Given the description of an element on the screen output the (x, y) to click on. 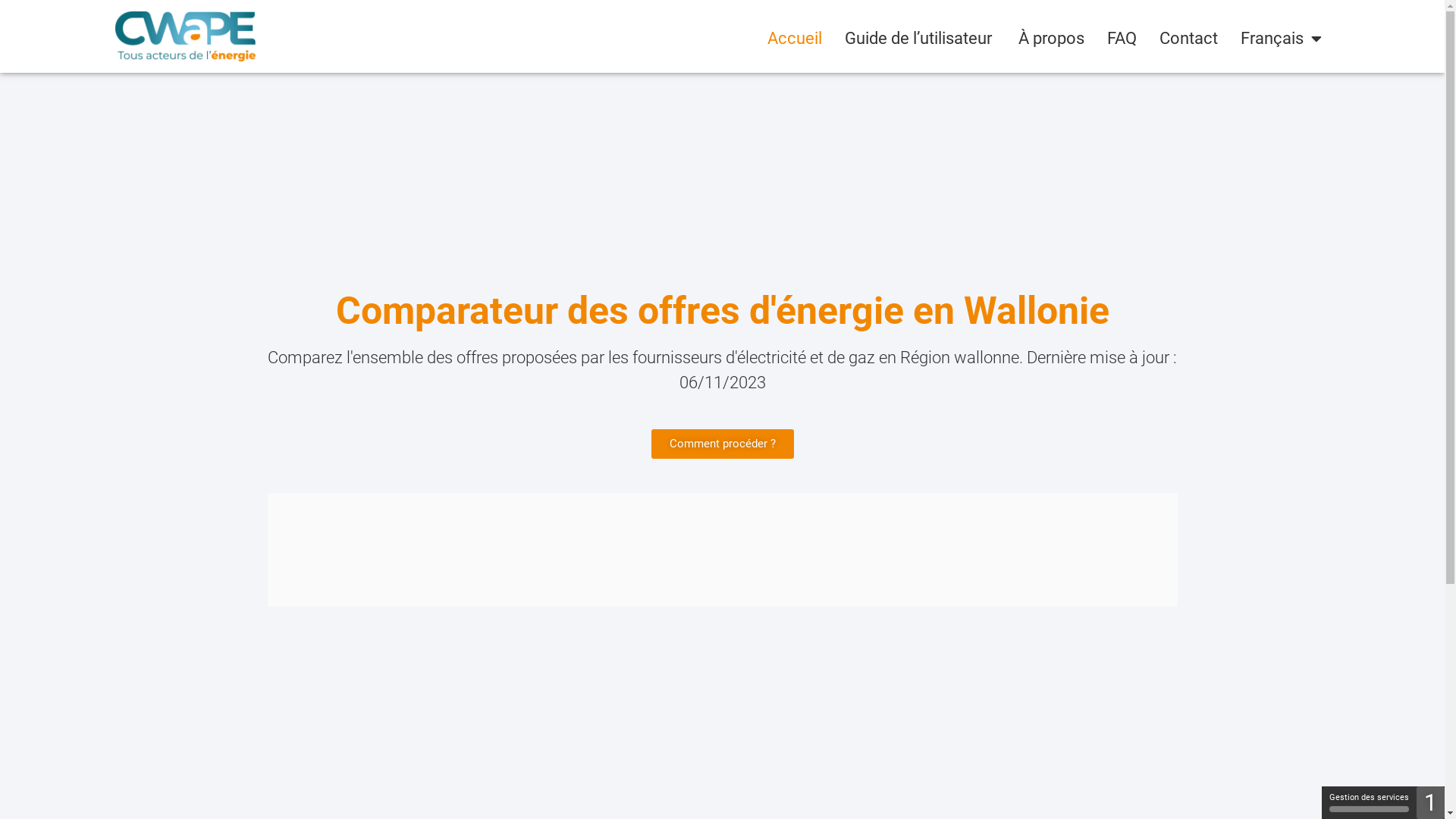
CompaCWaPe Element type: hover (721, 549)
FAQ Element type: text (1121, 37)
Accueil Element type: text (794, 37)
Contact Element type: text (1188, 37)
